Given the description of an element on the screen output the (x, y) to click on. 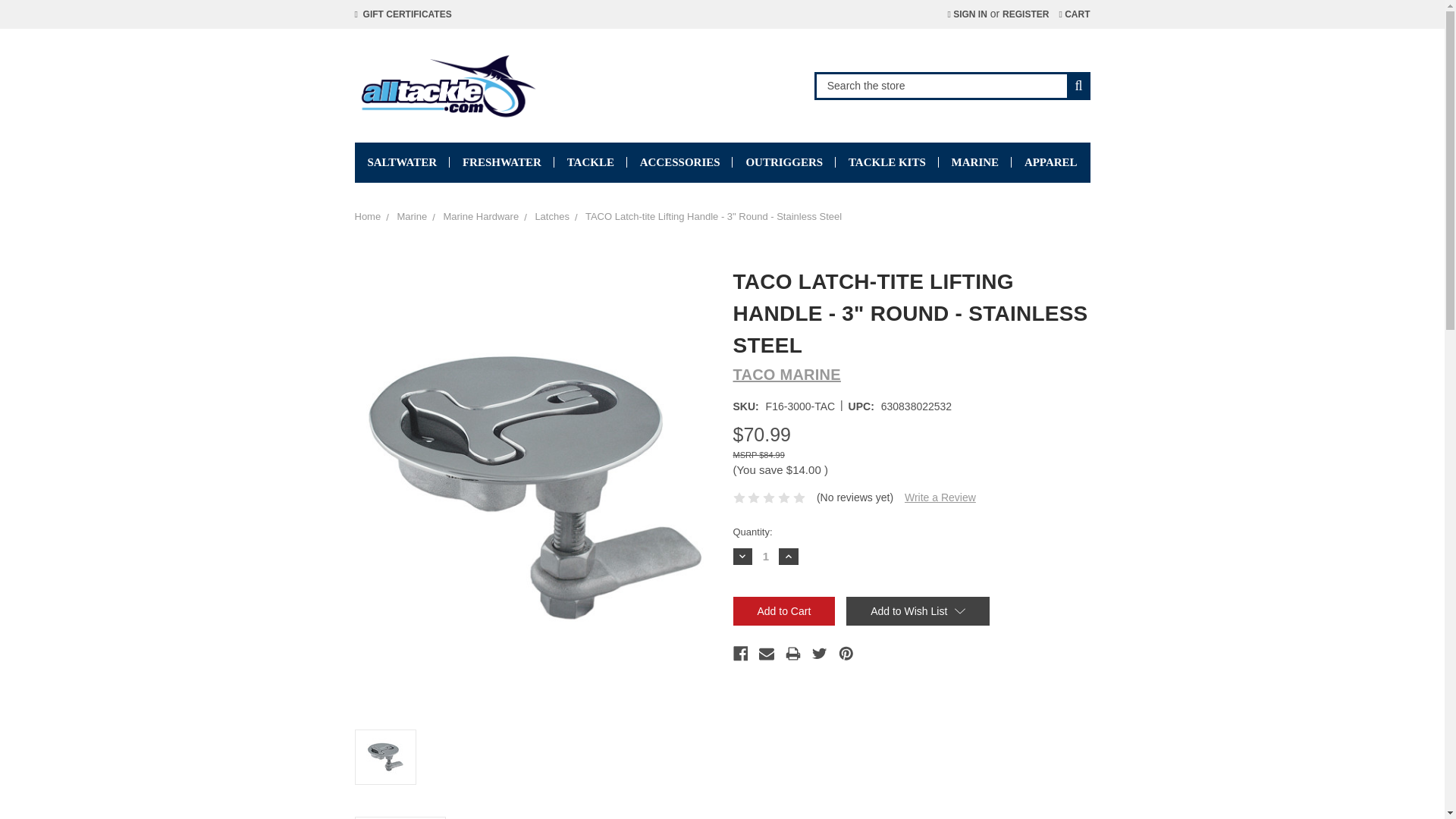
Add to Cart (783, 611)
REGISTER (1025, 14)
SALTWATER (401, 162)
  GIFT CERTIFICATES (403, 14)
1 (765, 555)
TACO Latch-tite Lifting Handle - 3" Round - Stainless Steel (385, 757)
TACO Latch-tite Lifting Handle - 3" Round - Stainless Steel (533, 485)
CART (1074, 14)
alltackle.com (447, 85)
SIGN IN (966, 14)
